Given the description of an element on the screen output the (x, y) to click on. 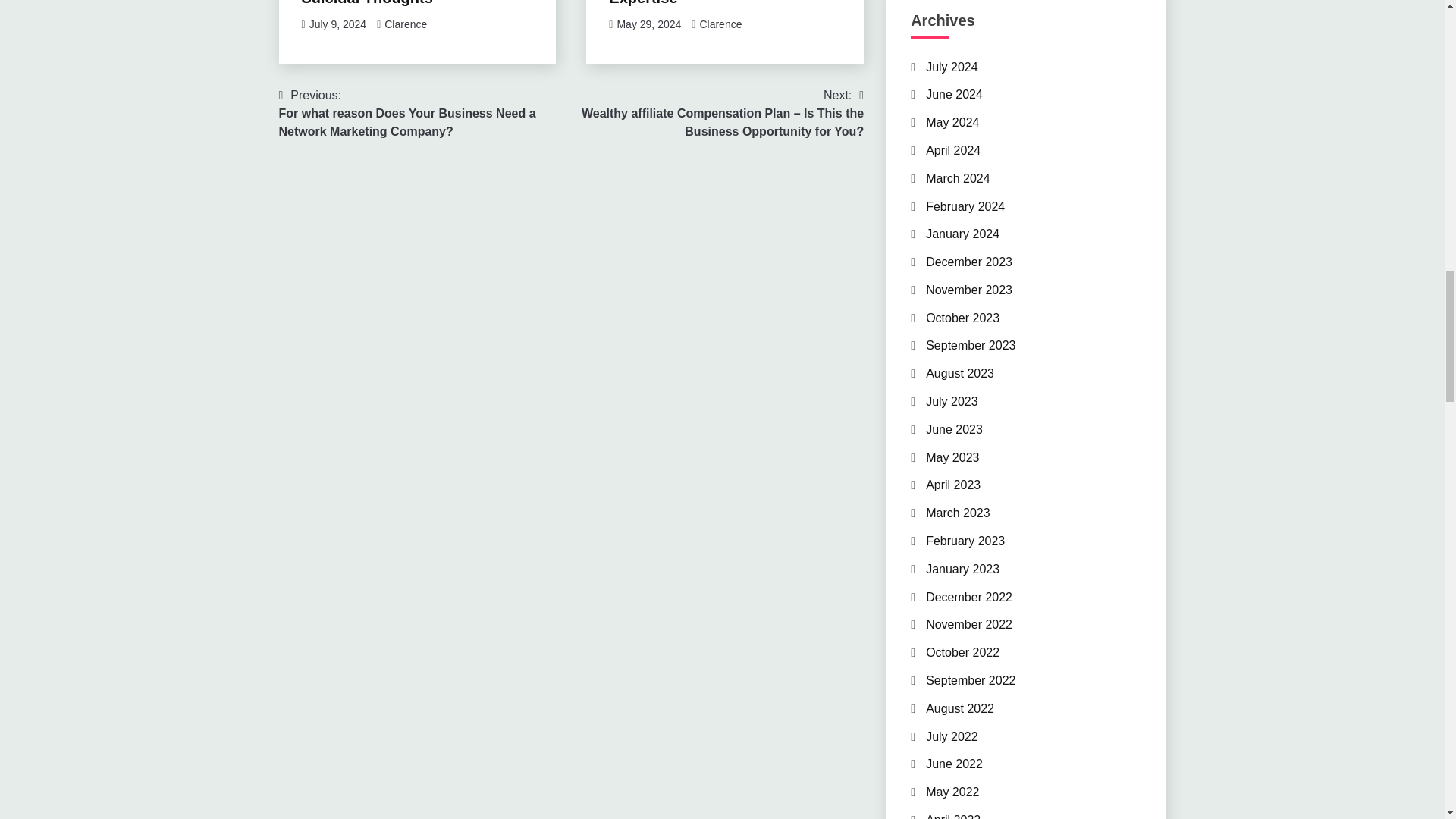
Clarence (719, 24)
July 9, 2024 (337, 24)
Clarence (405, 24)
May 29, 2024 (648, 24)
July 2024 (952, 66)
June 2024 (954, 93)
